Given the description of an element on the screen output the (x, y) to click on. 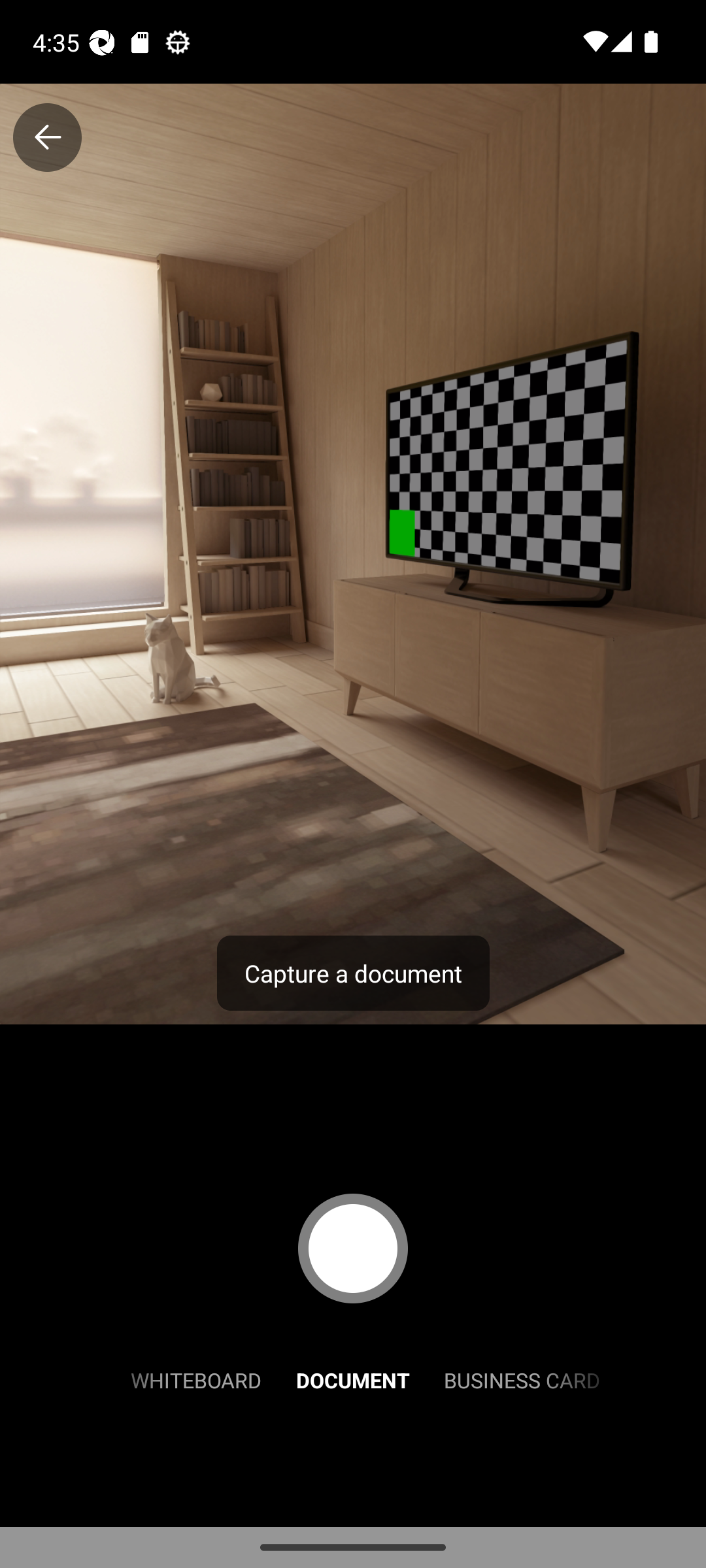
Close (47, 137)
Capture (352, 1248)
WHITEBOARD (196, 1379)
DOCUMENT (352, 1379)
BUSINESS CARD (521, 1379)
